Given the description of an element on the screen output the (x, y) to click on. 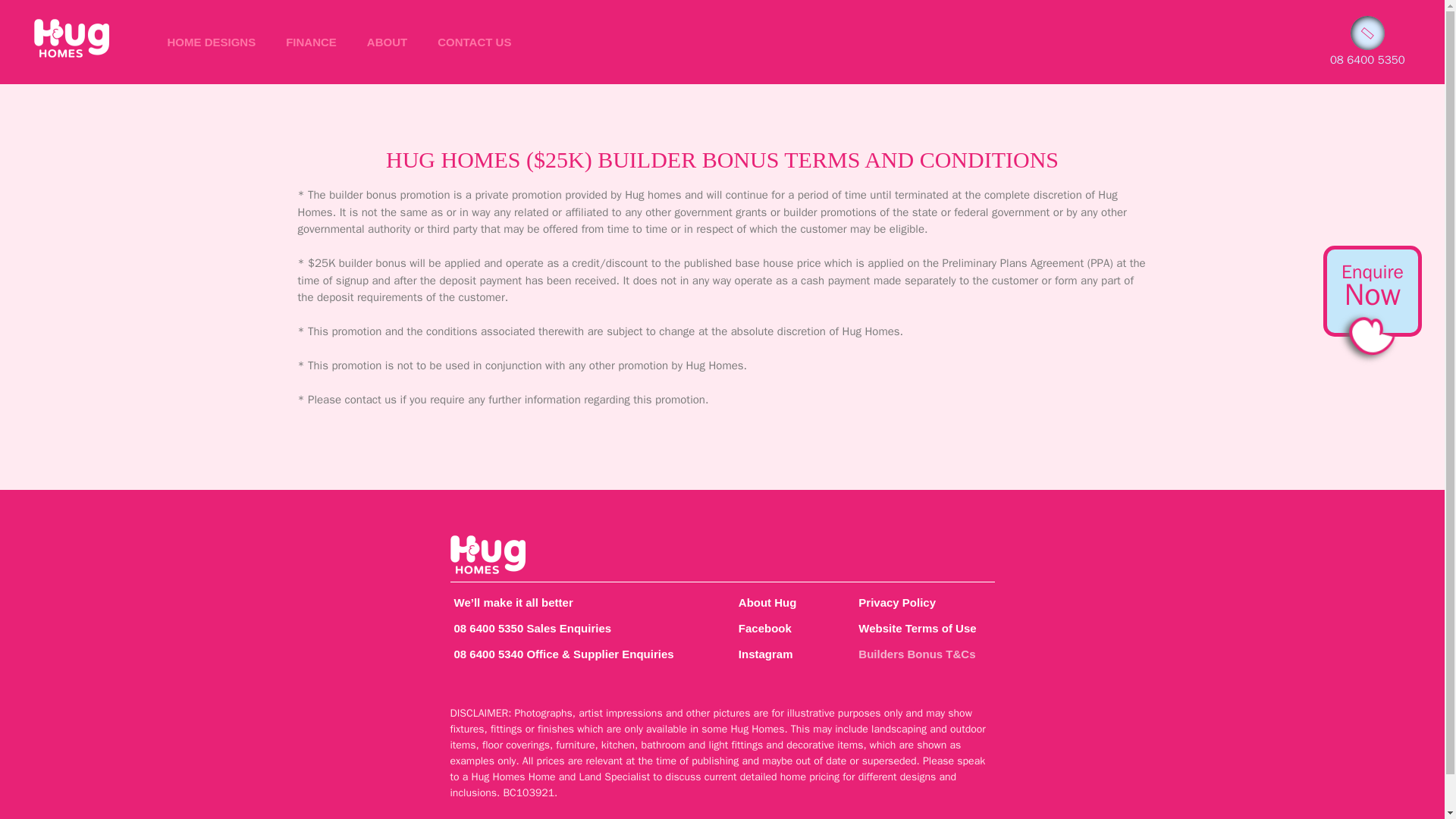
HOME DESIGNS (210, 41)
About Hug (783, 602)
ABOUT (387, 41)
Instagram (783, 654)
Facebook (783, 628)
FINANCE (311, 41)
Privacy Policy (923, 602)
logo-hughomes.png (487, 554)
logo-hughomes.png (71, 37)
Website Terms of Use (923, 628)
08 6400 5350 Sales Enquiries (580, 628)
Enquire Now (1372, 285)
08 6400 5350 (1367, 59)
CONTACT US (473, 41)
